Given the description of an element on the screen output the (x, y) to click on. 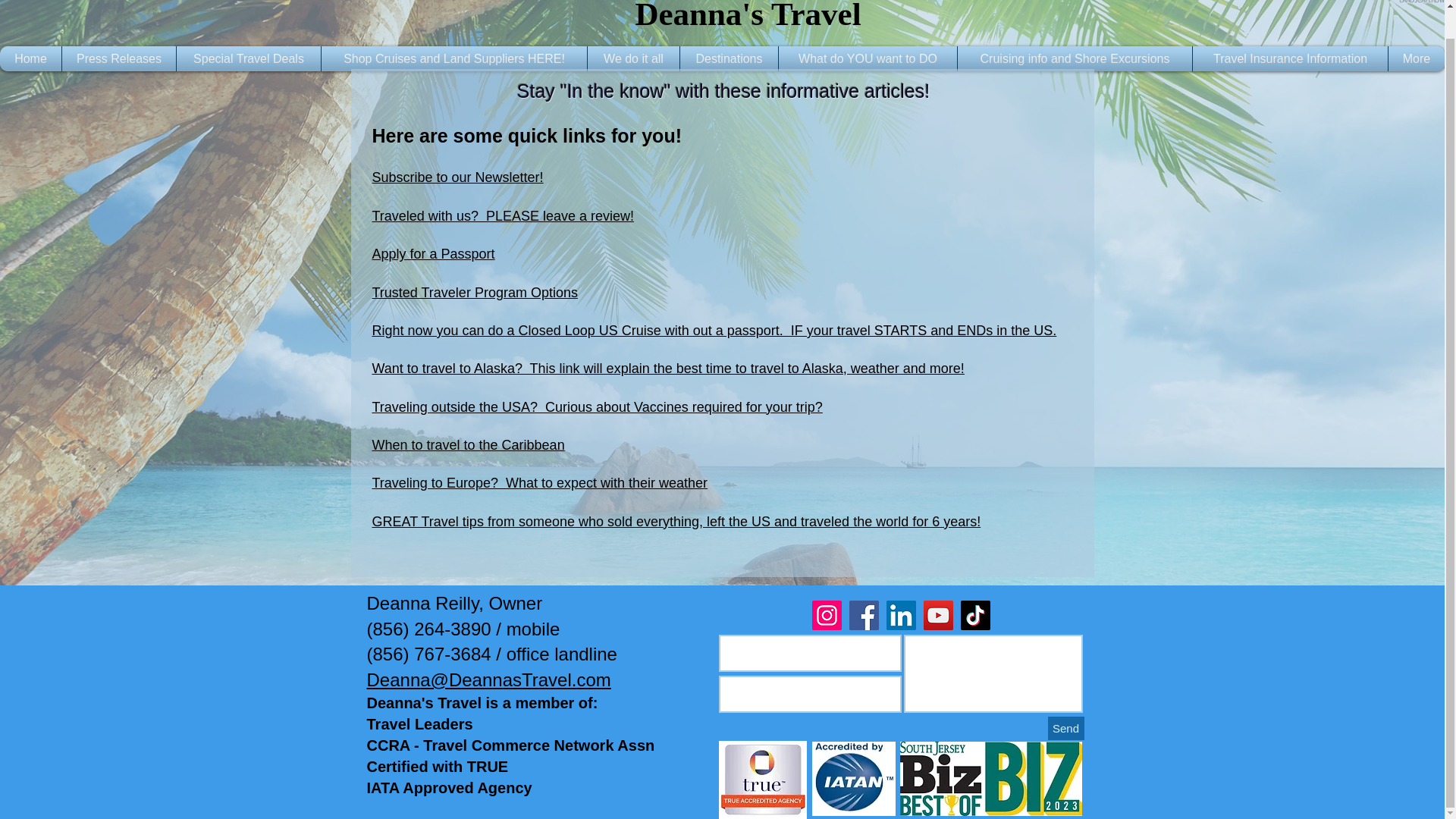
Press Releases (118, 58)
Here are some quick links for you! (526, 135)
What do YOU want to DO (868, 58)
Home (31, 58)
Apply for a Passport (433, 253)
Shop Cruises and Land Suppliers HERE! (453, 58)
Traveling to Europe?  What to expect with their weather (539, 482)
Special Travel Deals (248, 58)
Destinations (729, 58)
We do it all (633, 58)
When to travel to the Caribbean (467, 444)
Trusted Traveler Program Options (473, 292)
